Given the description of an element on the screen output the (x, y) to click on. 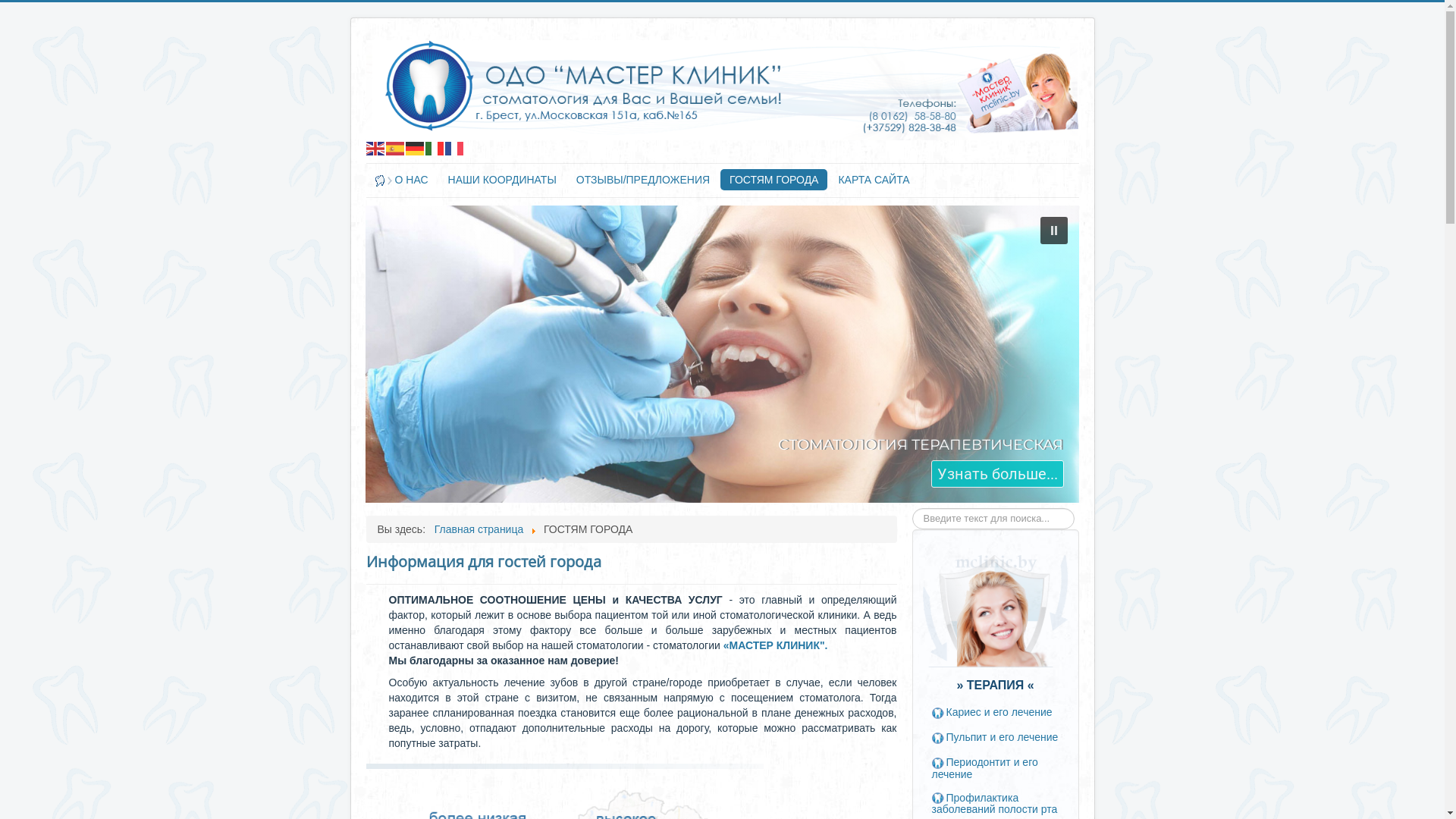
Deutsch Element type: hover (414, 147)
English Element type: hover (375, 147)
Italiano Element type: hover (434, 147)
